Given the description of an element on the screen output the (x, y) to click on. 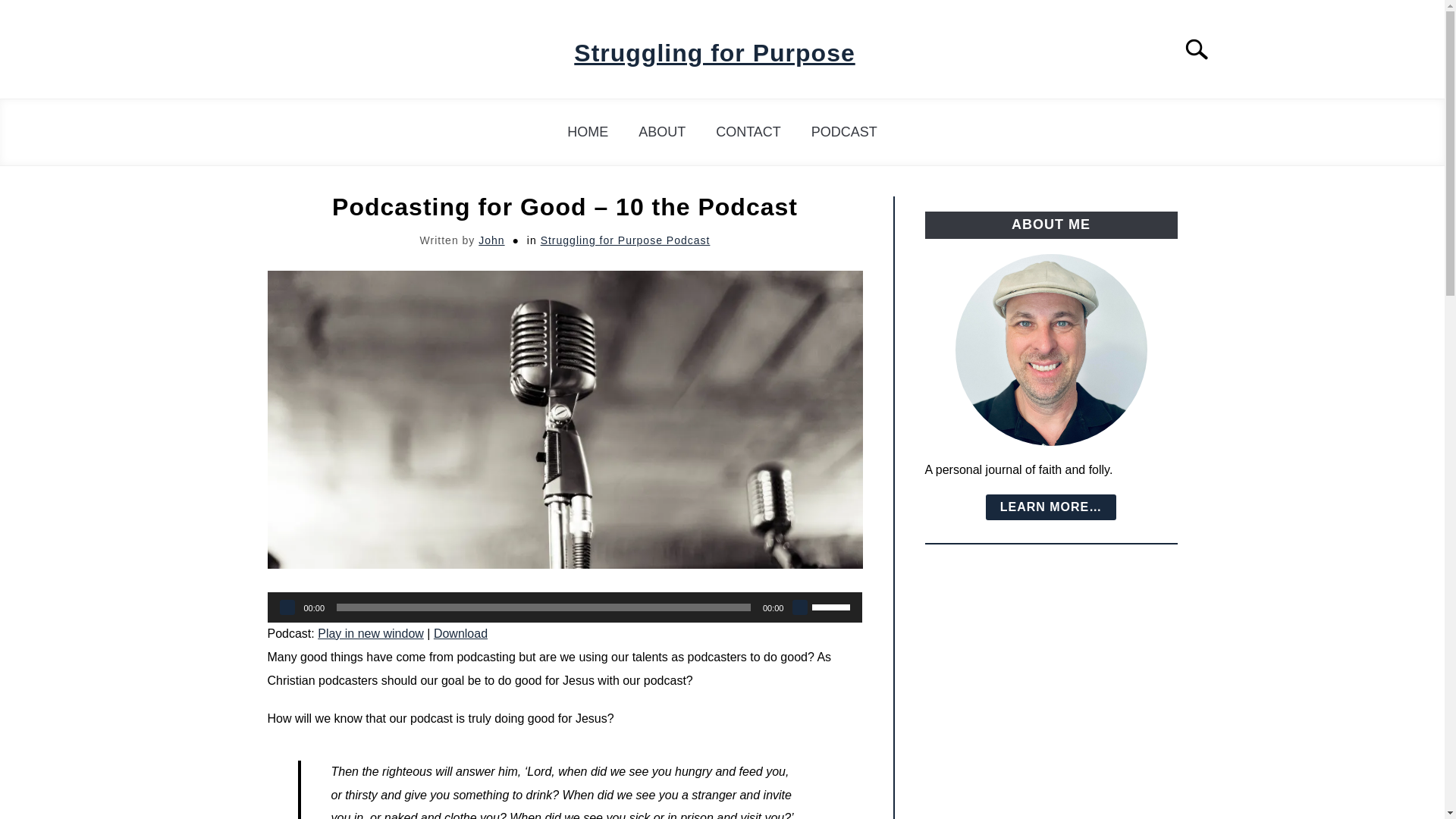
Play in new window (370, 633)
Mute (800, 607)
Download (460, 633)
Struggling for Purpose Podcast (625, 240)
Struggling for Purpose (713, 53)
Download (460, 633)
HOME (587, 131)
John (491, 240)
ABOUT (661, 131)
CONTACT (748, 131)
Search (1203, 49)
PODCAST (844, 131)
Play in new window (370, 633)
Play (286, 607)
